Given the description of an element on the screen output the (x, y) to click on. 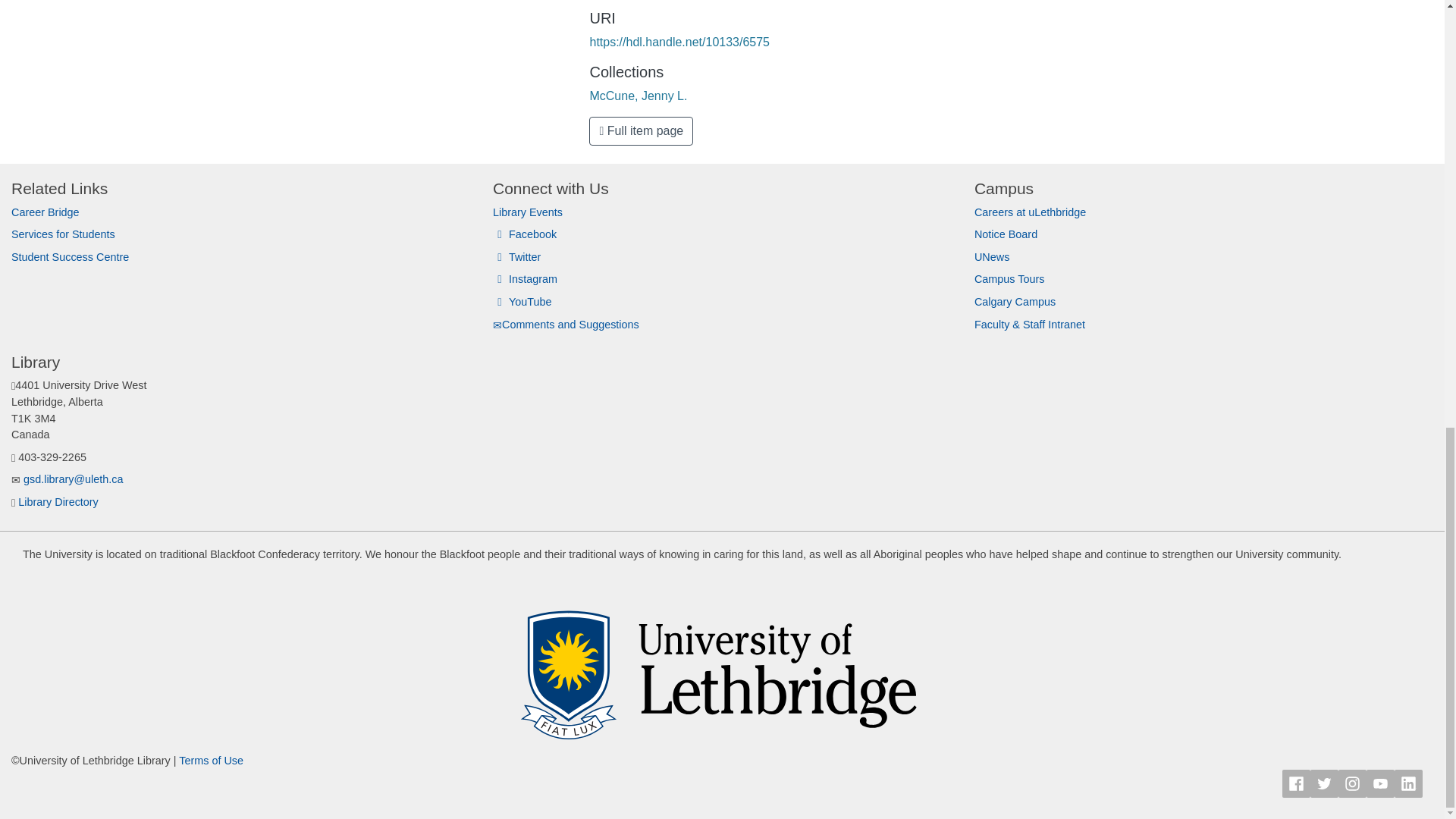
YouTube (522, 301)
Twitter (516, 256)
Instagram Link (1352, 783)
Facebook (524, 234)
Full item page (641, 131)
Careers at uLethbridge (1030, 212)
Facebook Link (1296, 783)
LinkedIn Link (1408, 783)
The University of Lethbridge (721, 664)
McCune, Jenny L. (638, 95)
